Given the description of an element on the screen output the (x, y) to click on. 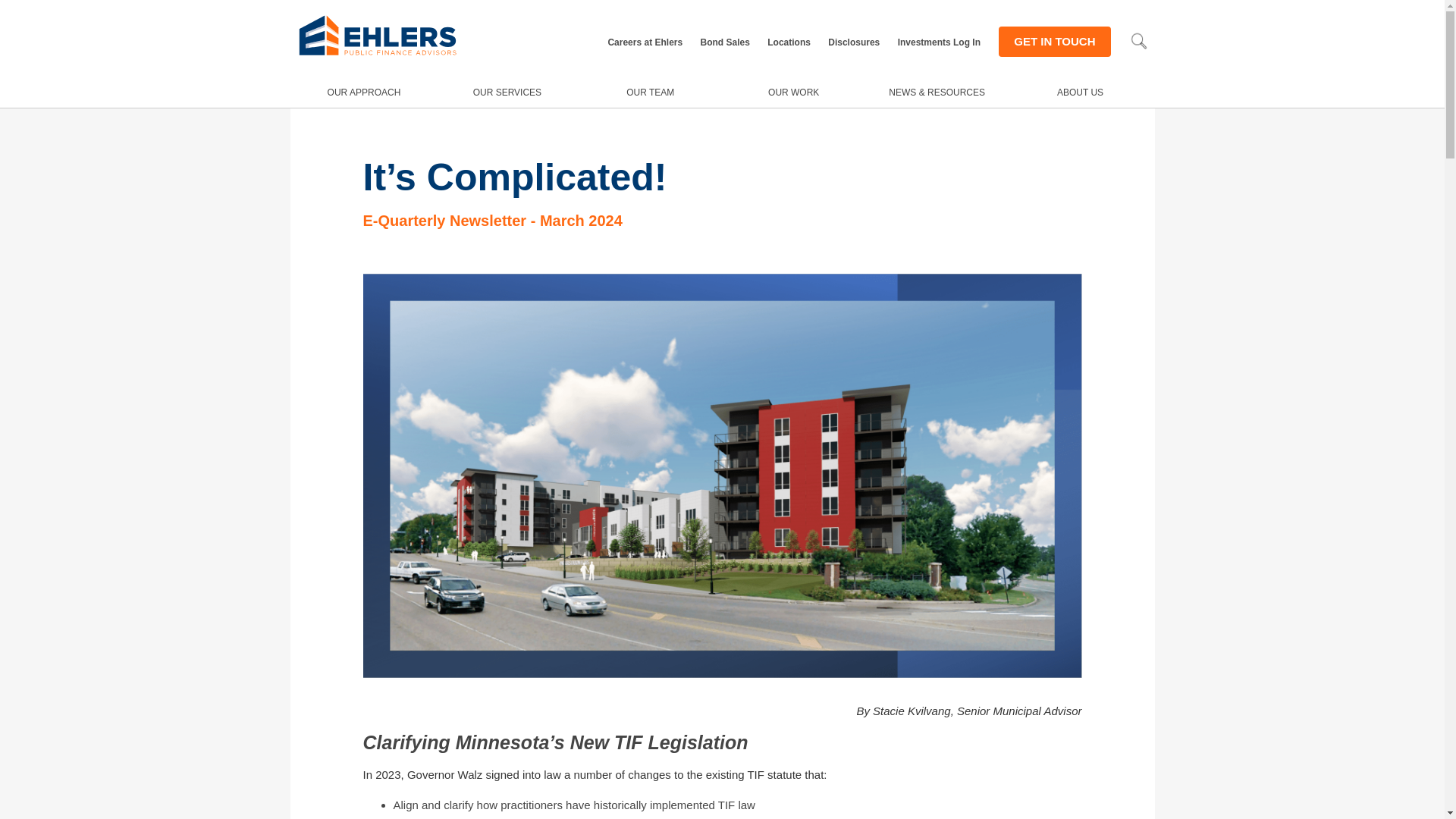
OUR WORK (793, 91)
Investments Log In (938, 41)
Ehlers, Inc. (377, 54)
GET IN TOUCH (1053, 41)
Bond Sales (724, 41)
OUR TEAM (650, 91)
Careers at Ehlers (644, 41)
Locations (788, 41)
E-Quarterly Newsletter - March 2024 (491, 220)
OUR SERVICES (506, 91)
